Given the description of an element on the screen output the (x, y) to click on. 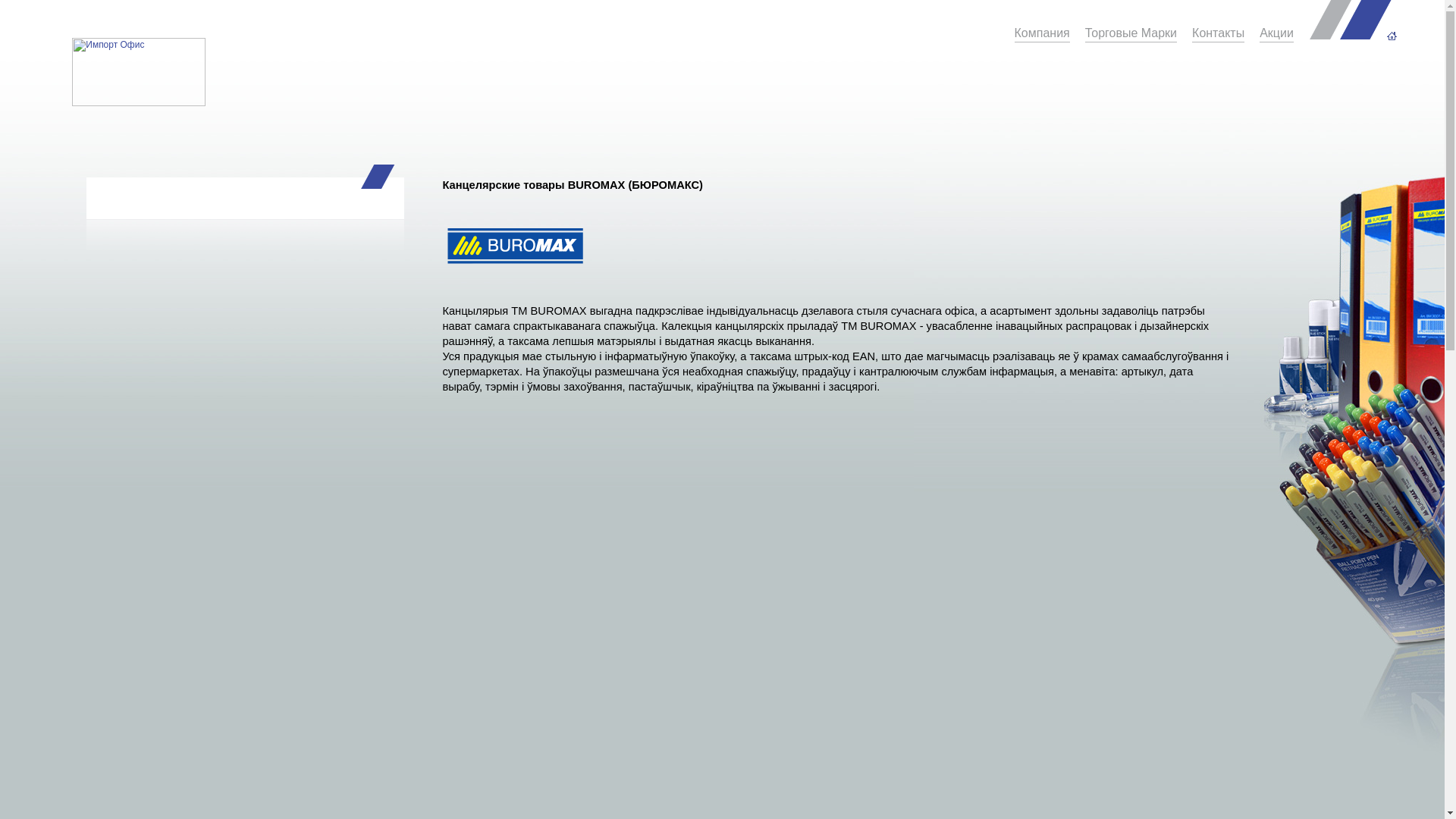
BUROMAX Element type: hover (514, 247)
